Given the description of an element on the screen output the (x, y) to click on. 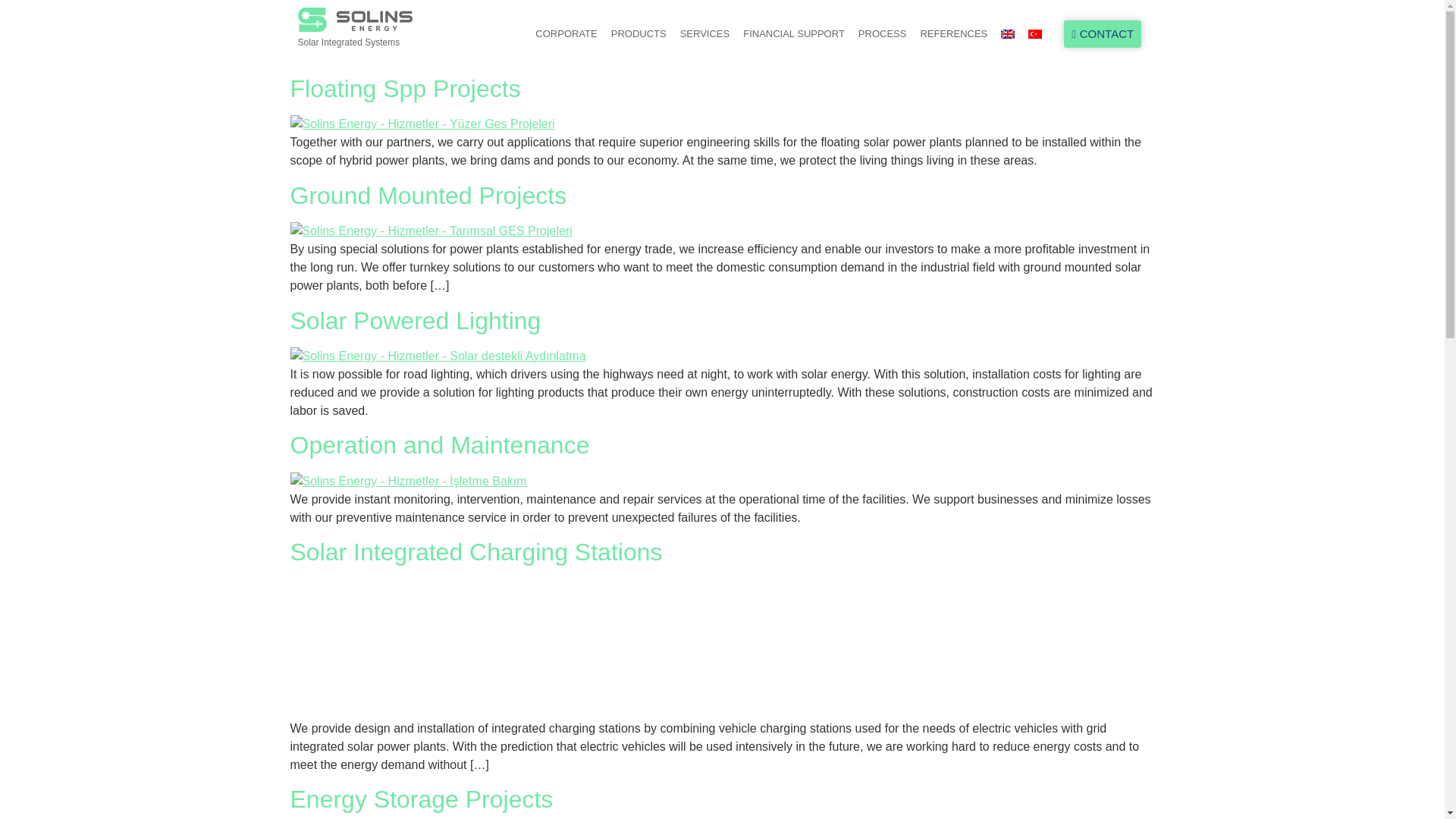
PRODUCTS (638, 33)
REFERENCES (953, 33)
SERVICES (704, 33)
CORPORATE (566, 33)
FINANCIAL SUPPORT (793, 33)
PROCESS (882, 33)
